Given the description of an element on the screen output the (x, y) to click on. 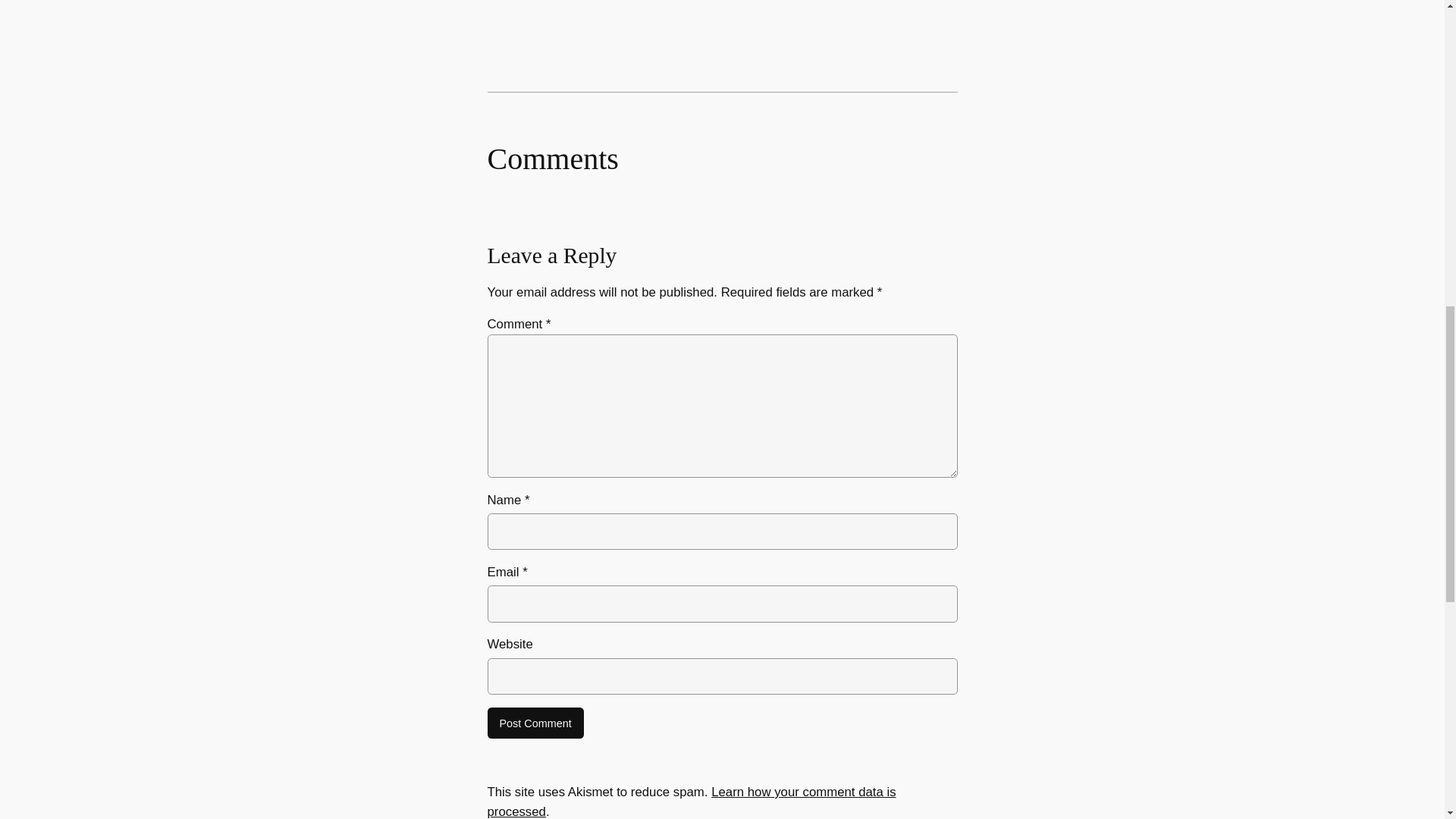
Learn how your comment data is processed (690, 801)
Post Comment (534, 723)
Post Comment (534, 723)
